Given the description of an element on the screen output the (x, y) to click on. 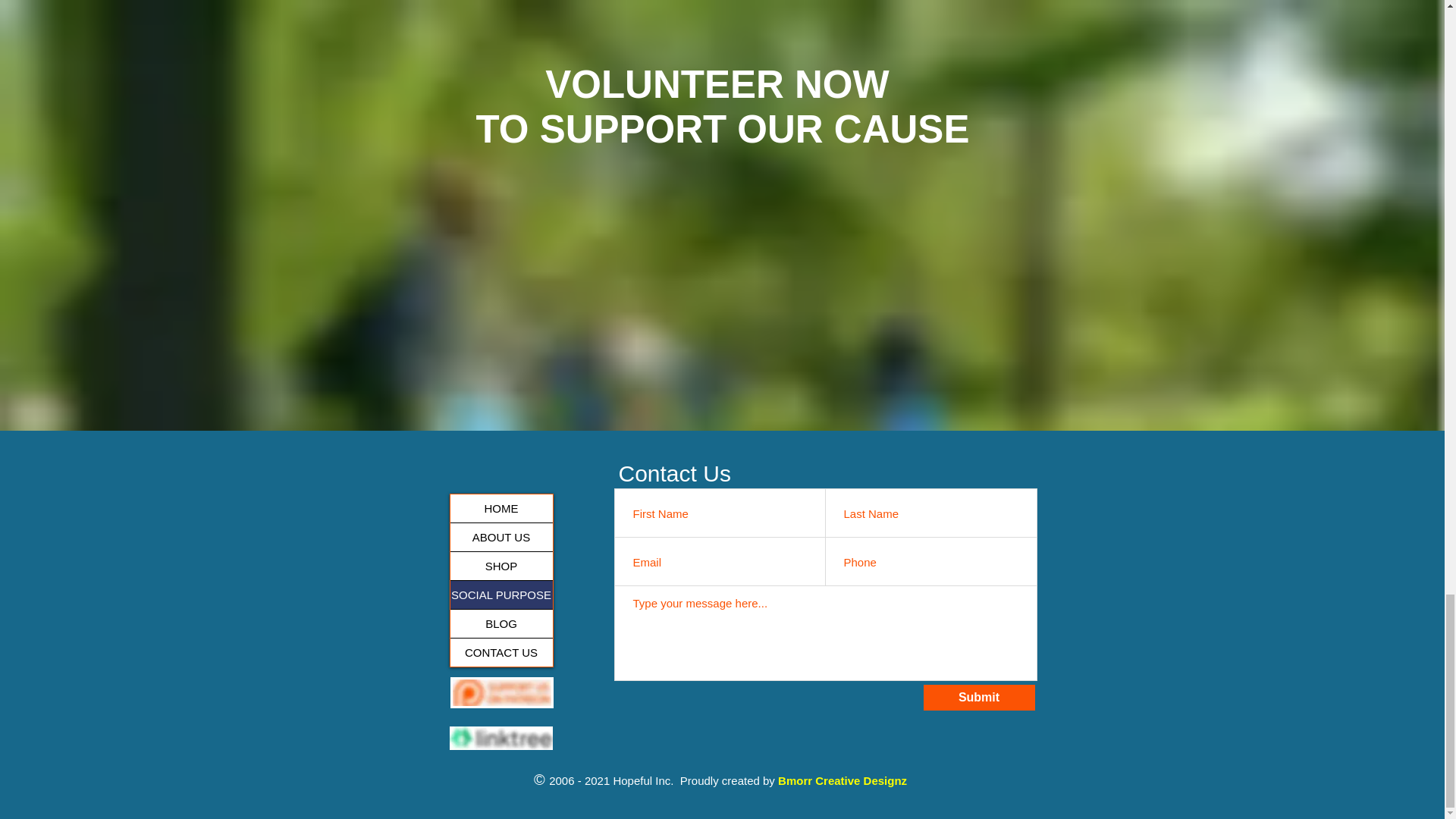
CONTACT US (501, 652)
Bmorr Creative Designz (842, 780)
Submit (979, 697)
BLOG (501, 623)
HOME (501, 508)
ABOUT US (501, 537)
SOCIAL PURPOSE (501, 594)
SHOP (501, 565)
